Given the description of an element on the screen output the (x, y) to click on. 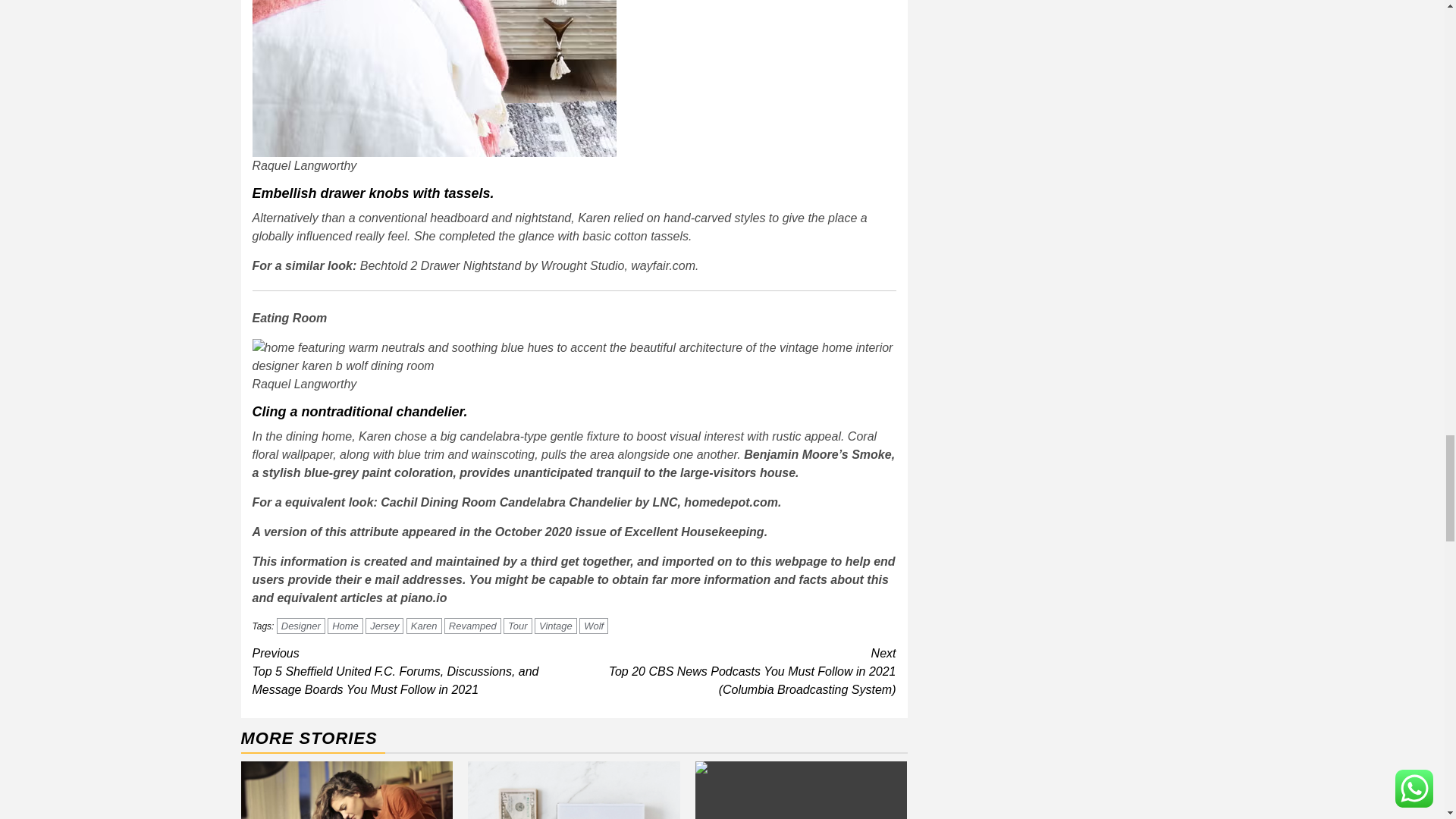
Designer (300, 625)
karen b wolf bedroom  (433, 78)
karen b wolf dining room (573, 357)
Revamped (472, 625)
Jersey (384, 625)
Karen (424, 625)
Home (344, 625)
Tour (517, 625)
Vintage (555, 625)
